Given the description of an element on the screen output the (x, y) to click on. 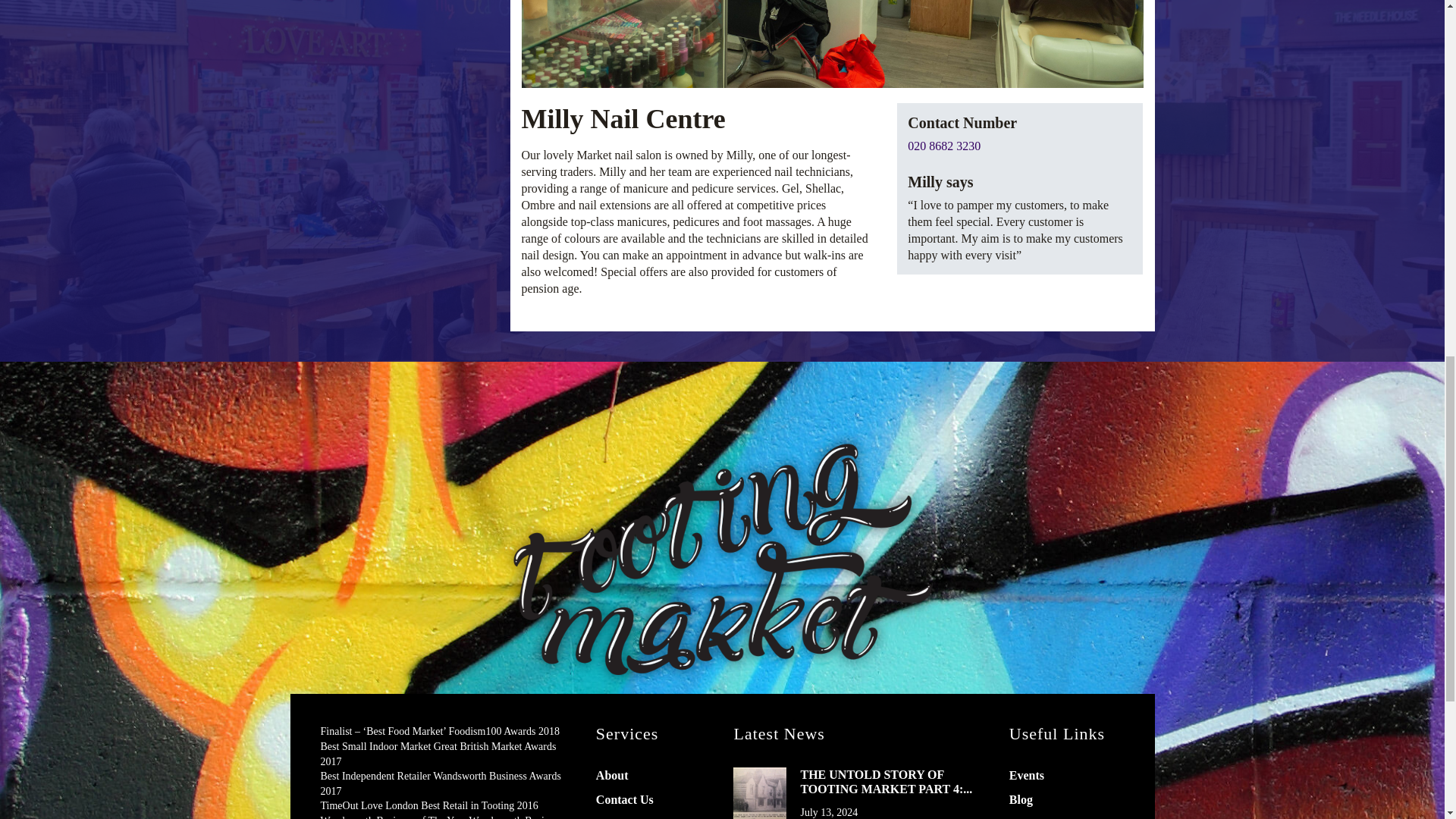
About (611, 775)
THE UNTOLD STORY OF TOOTING MARKET PART 4:... (892, 781)
Contact Us (624, 799)
Events (1026, 775)
Read More (759, 793)
Blog (1020, 799)
020 8682 3230 (943, 145)
